Given the description of an element on the screen output the (x, y) to click on. 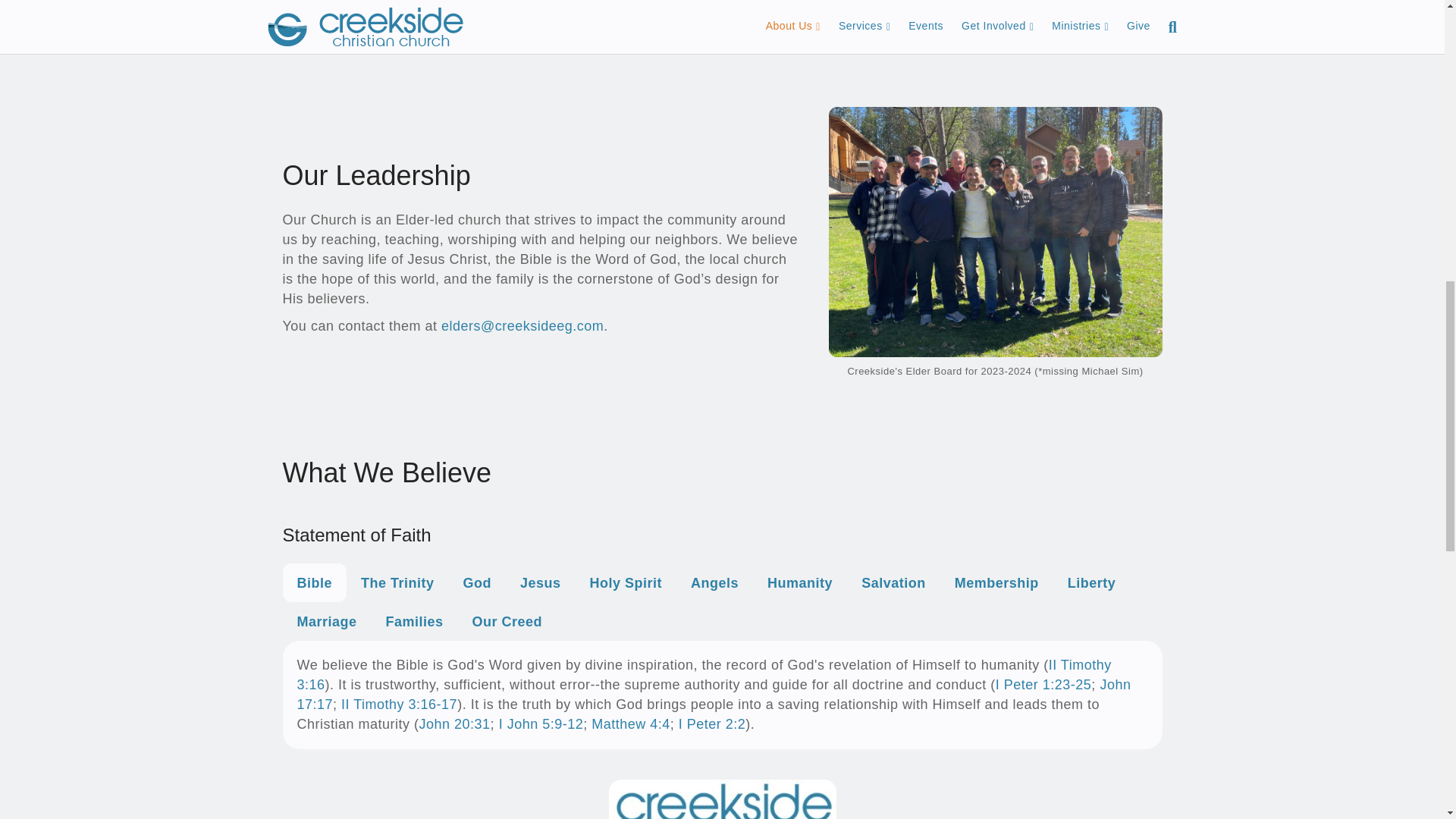
God (477, 582)
Bible (314, 582)
The Trinity (397, 582)
Jesus (540, 582)
Centennial Logo (721, 799)
Holy Spirit (626, 582)
2023-2024 Elders (994, 232)
